Given the description of an element on the screen output the (x, y) to click on. 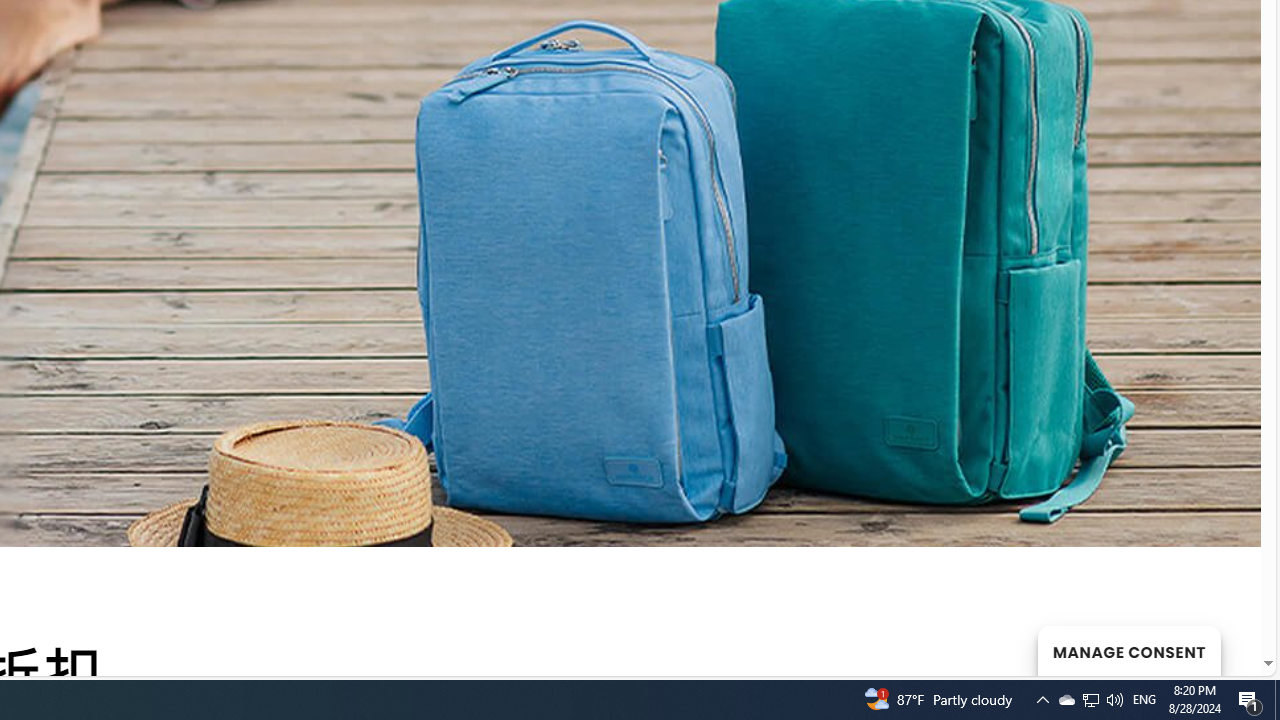
MANAGE CONSENT (1128, 650)
